Given the description of an element on the screen output the (x, y) to click on. 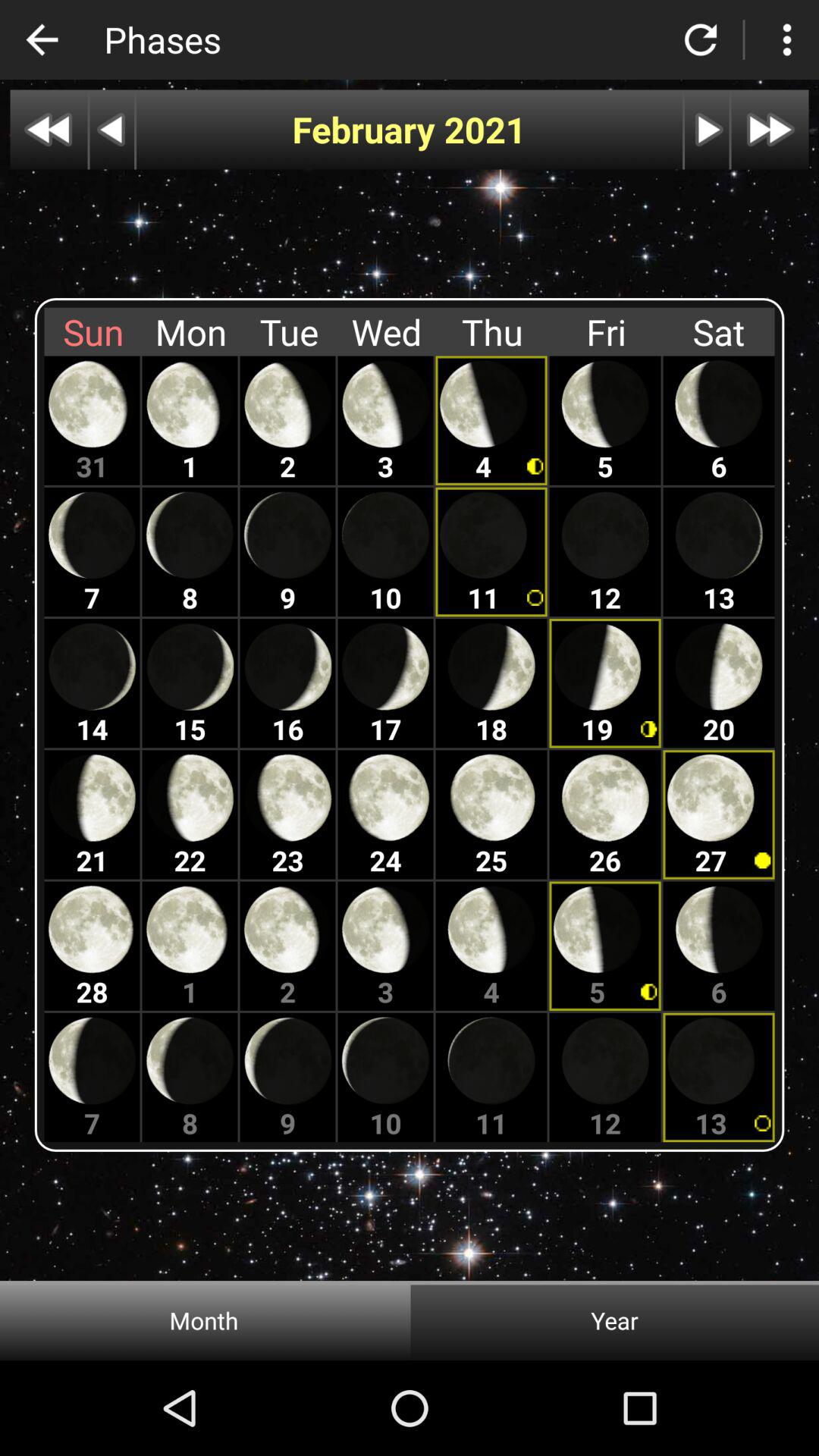
click on the icon under the reload option (706, 130)
select the date 10 (386, 551)
select the 14th moon (92, 683)
fourth friday in the month (604, 814)
click on the forward option (770, 130)
select the moon which is below 26th moon (604, 946)
